Given the description of an element on the screen output the (x, y) to click on. 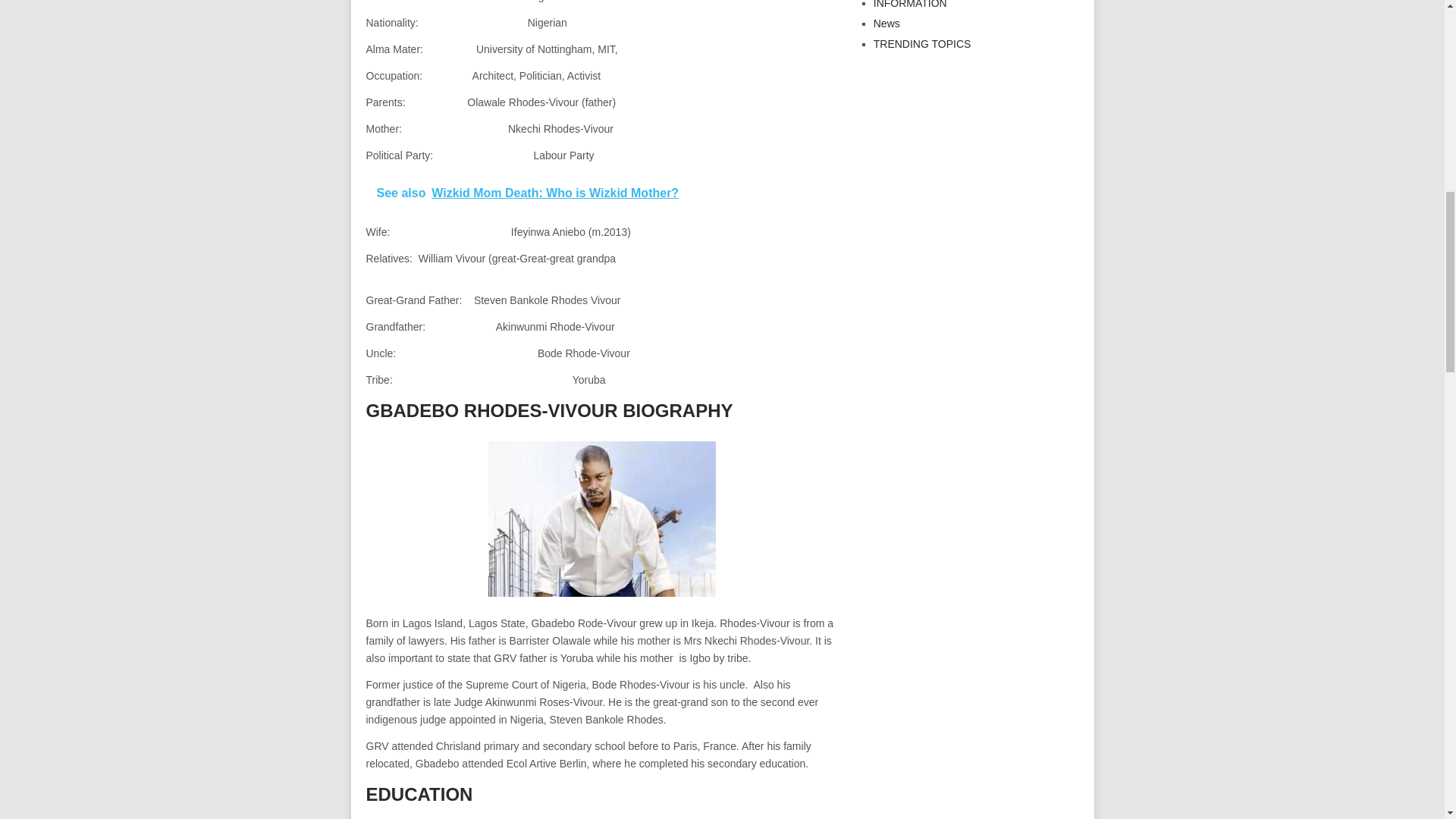
See also  Wizkid Mom Death: Who is Wizkid Mother? (601, 192)
